Given the description of an element on the screen output the (x, y) to click on. 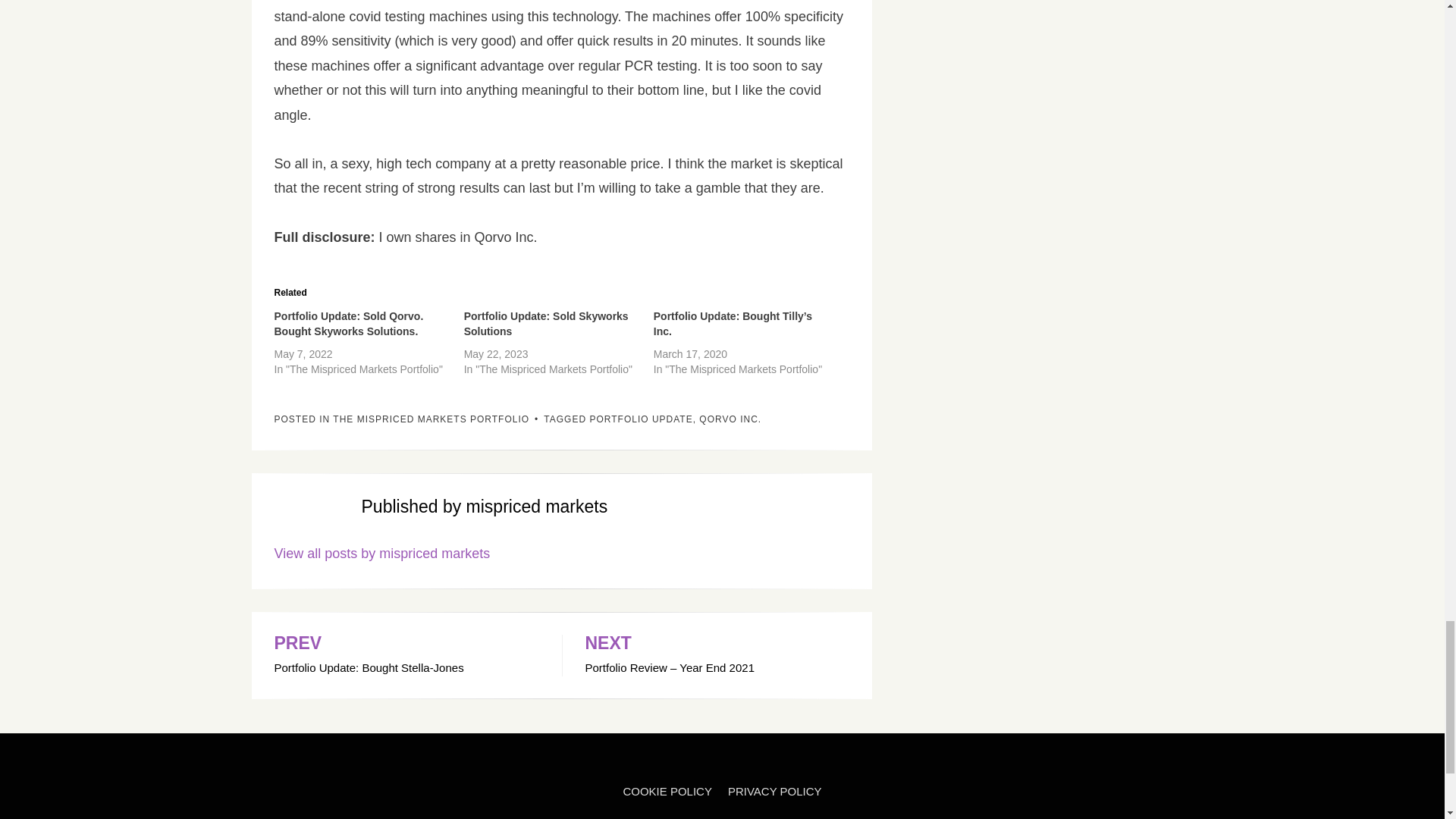
PRIVACY POLICY (775, 790)
Portfolio Update: Sold Skyworks Solutions (546, 323)
Portfolio Update: Sold Skyworks Solutions (546, 323)
QORVO INC. (729, 419)
Portfolio Update: Sold Qorvo. Bought Skyworks Solutions. (349, 323)
COOKIE POLICY (406, 655)
View all posts by mispriced markets (666, 790)
PORTFOLIO UPDATE (382, 553)
THE MISPRICED MARKETS PORTFOLIO (641, 419)
Portfolio Update: Sold Qorvo. Bought Skyworks Solutions. (431, 419)
